Given the description of an element on the screen output the (x, y) to click on. 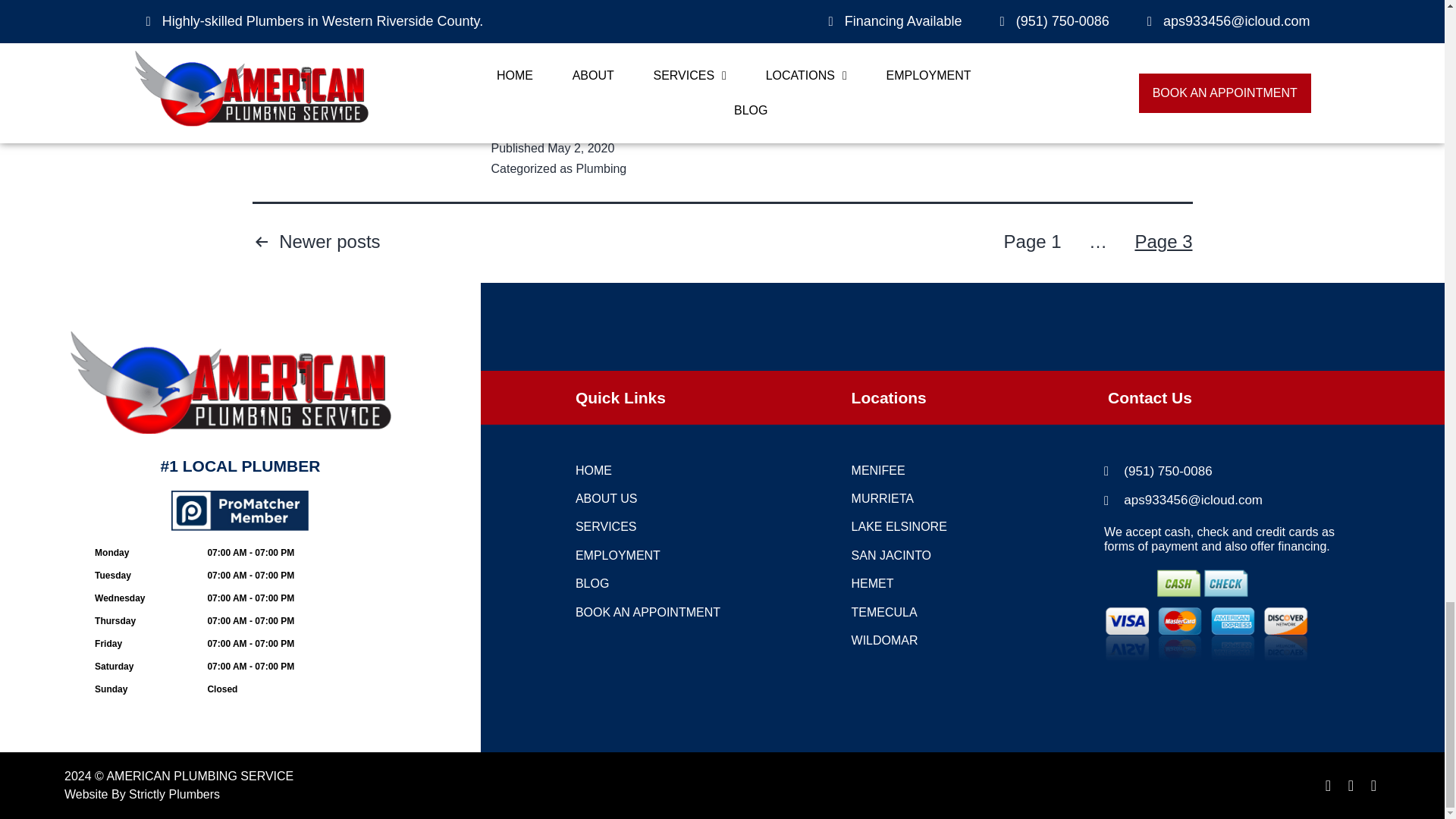
Copy Link (618, 89)
Pinterest (581, 89)
More Options (764, 89)
WhatsApp (691, 89)
LinkedIn (654, 89)
Email This (727, 89)
Facebook (509, 89)
